Given the description of an element on the screen output the (x, y) to click on. 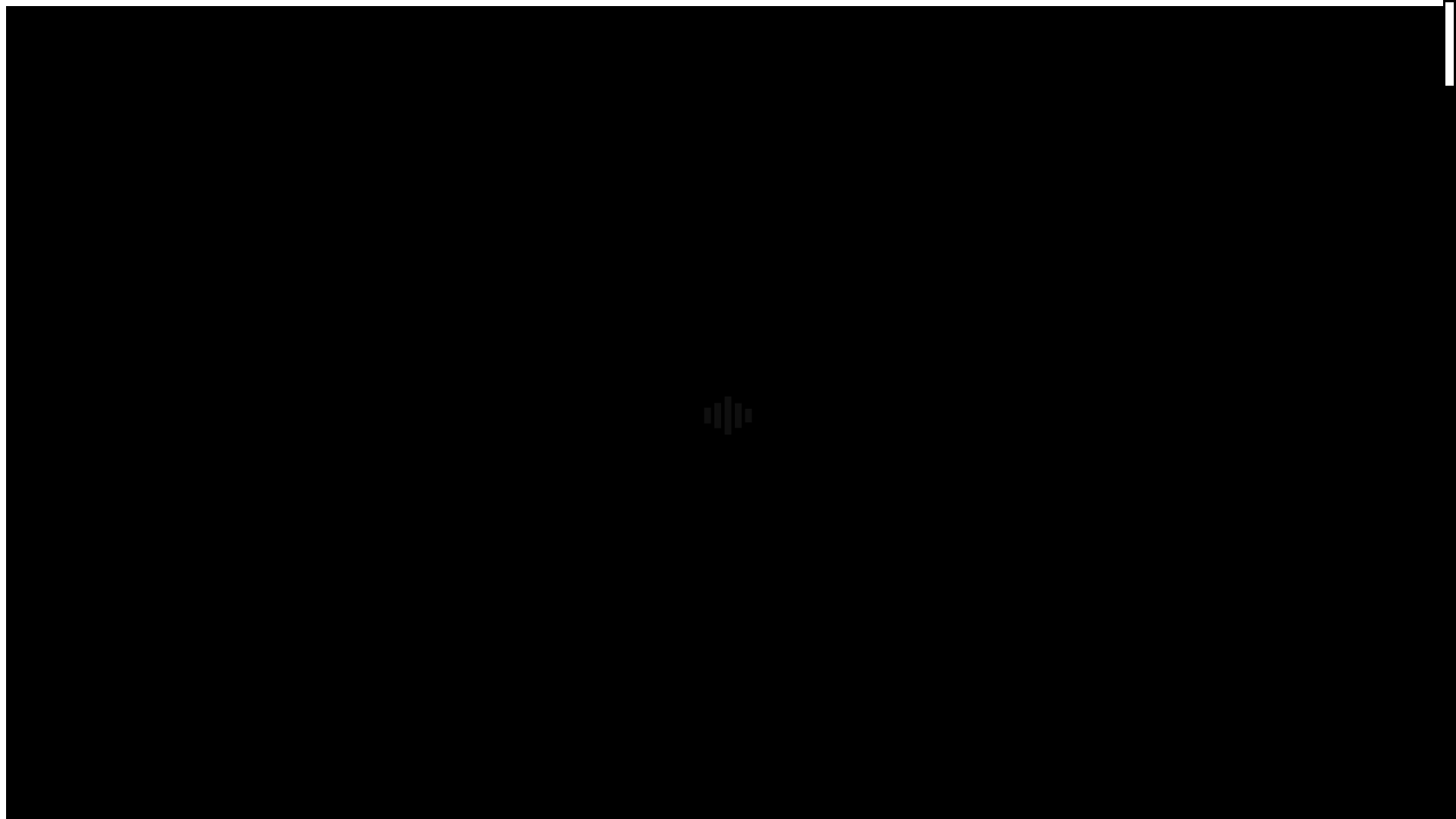
Engineered Solutions Element type: text (88, 191)
Information Pack Element type: text (78, 680)
Skip to content Element type: text (42, 12)
DS600 Case Study Element type: text (112, 653)
Home Element type: text (50, 558)
DS600 Case Study Element type: text (112, 246)
About Element type: text (51, 571)
DA500 Case Study Element type: text (113, 667)
Benefits Element type: text (56, 626)
Press Element type: text (49, 694)
DA500 Case Study Element type: text (113, 260)
About Element type: text (51, 164)
Linkedin Element type: text (75, 432)
Facebook Element type: text (29, 432)
Contact Element type: text (55, 314)
Press Element type: text (49, 287)
Contact Element type: text (55, 721)
Benefits Element type: text (56, 219)
Case Studies Element type: text (67, 232)
FAQs Element type: text (50, 300)
Product Range Element type: text (72, 178)
Engineered Solutions Element type: text (88, 599)
Information Pack Element type: text (78, 273)
Case Studies Element type: text (67, 639)
Home Element type: text (50, 150)
Demolition, Construction & Civil Element type: text (118, 612)
Demolition, Construction & Civil Element type: text (118, 205)
menu Element type: text (19, 532)
FAQs Element type: text (50, 708)
Product Range Element type: text (72, 585)
